Given the description of an element on the screen output the (x, y) to click on. 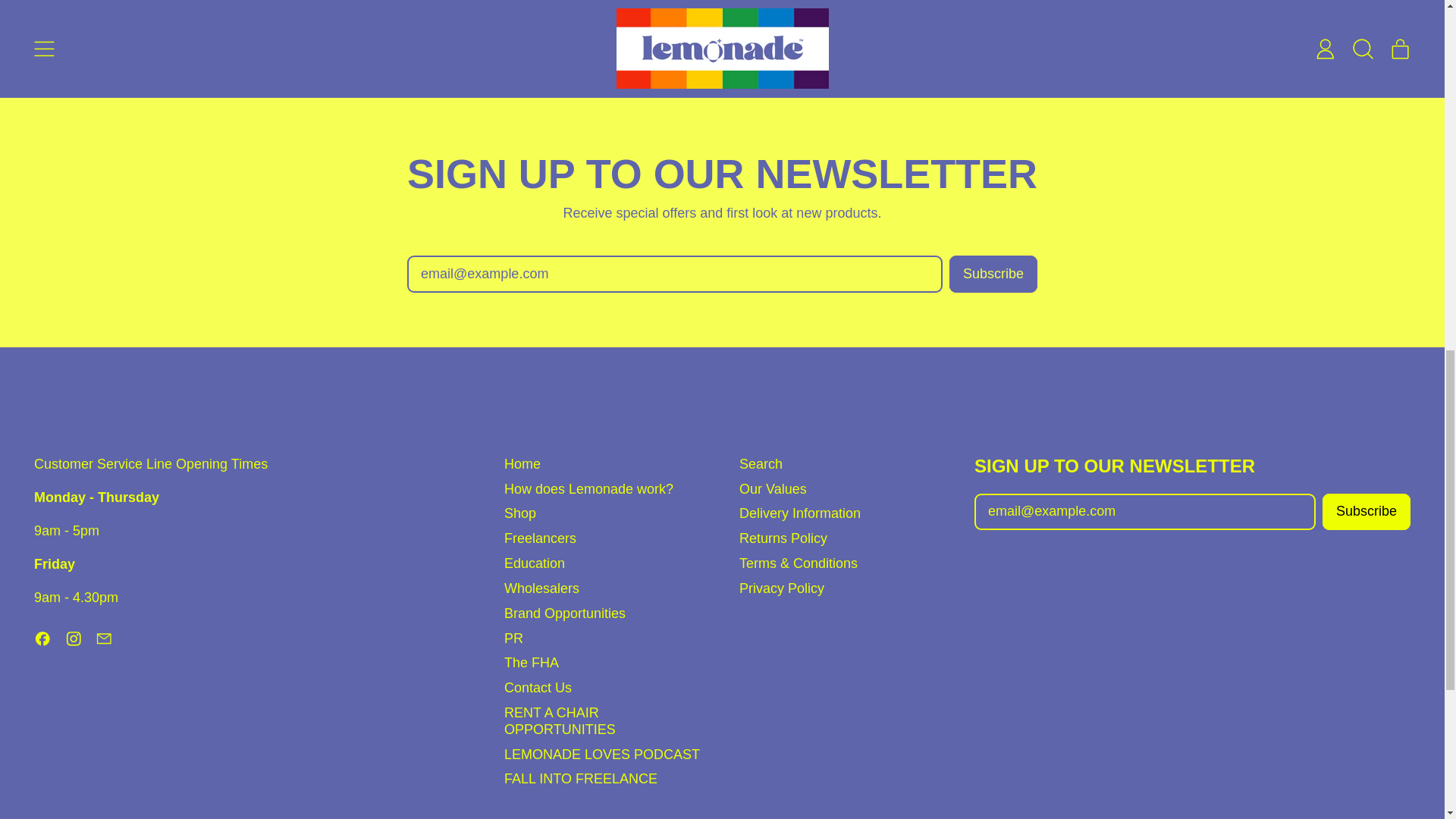
Brand Opportunities (564, 613)
Our Values (772, 488)
Wholesalers (541, 588)
FALL INTO FREELANCE (580, 778)
Subscribe (1366, 511)
Shop (519, 513)
Returns Policy (783, 538)
Subscribe (992, 273)
Instagram (73, 642)
RENT A CHAIR OPPORTUNITIES (559, 721)
Education (533, 563)
Email (104, 642)
PR (512, 638)
How does Lemonade work? (587, 488)
Home (521, 463)
